Given the description of an element on the screen output the (x, y) to click on. 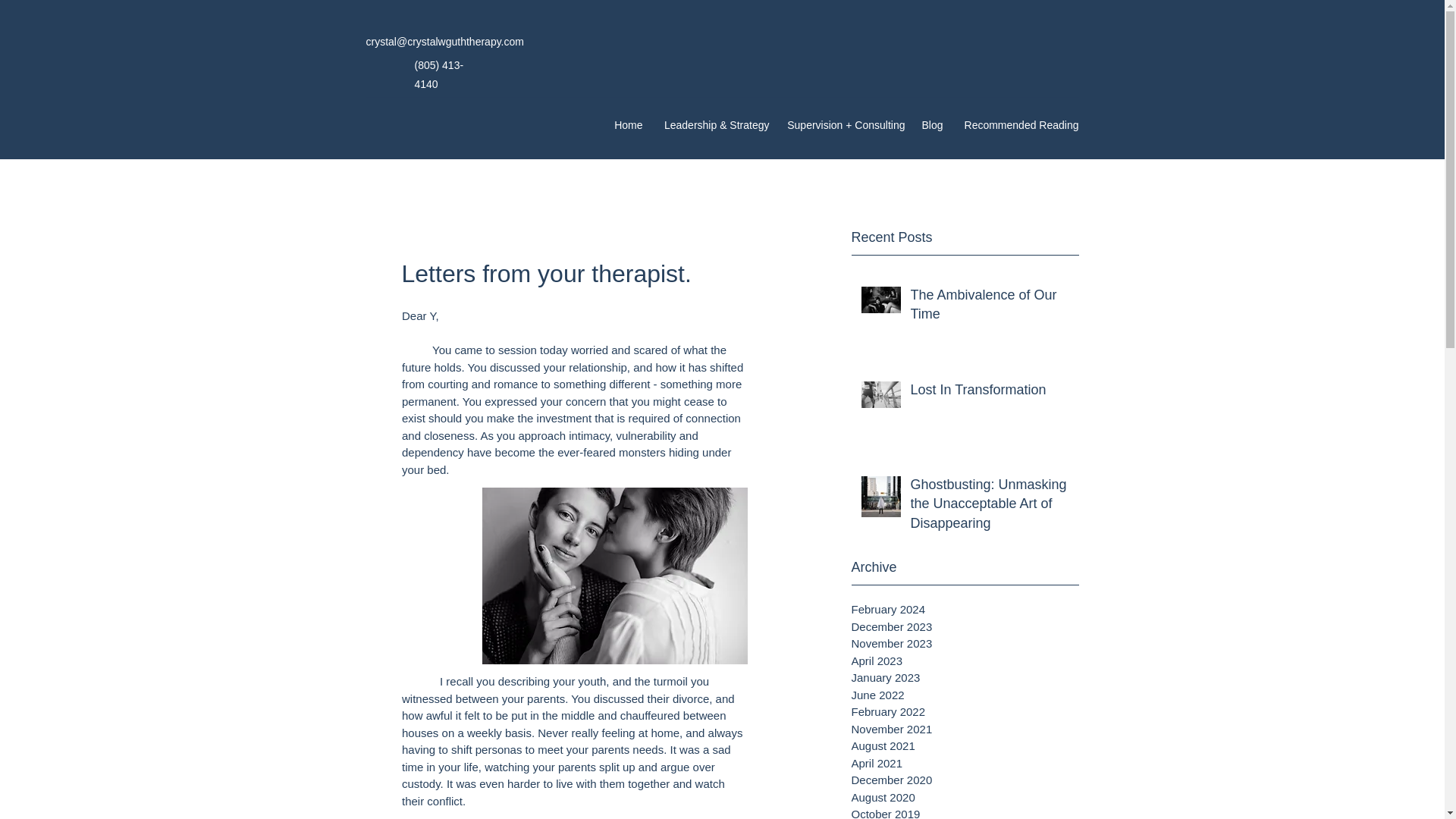
April 2021 (964, 764)
The Ambivalence of Our Time (989, 307)
December 2023 (964, 627)
February 2024 (964, 610)
June 2022 (964, 695)
Recommended Reading (1018, 124)
December 2020 (964, 780)
August 2021 (964, 746)
Lost In Transformation (989, 392)
April 2023 (964, 661)
November 2023 (964, 643)
October 2019 (964, 812)
August 2020 (964, 797)
Blog (931, 124)
January 2023 (964, 678)
